Given the description of an element on the screen output the (x, y) to click on. 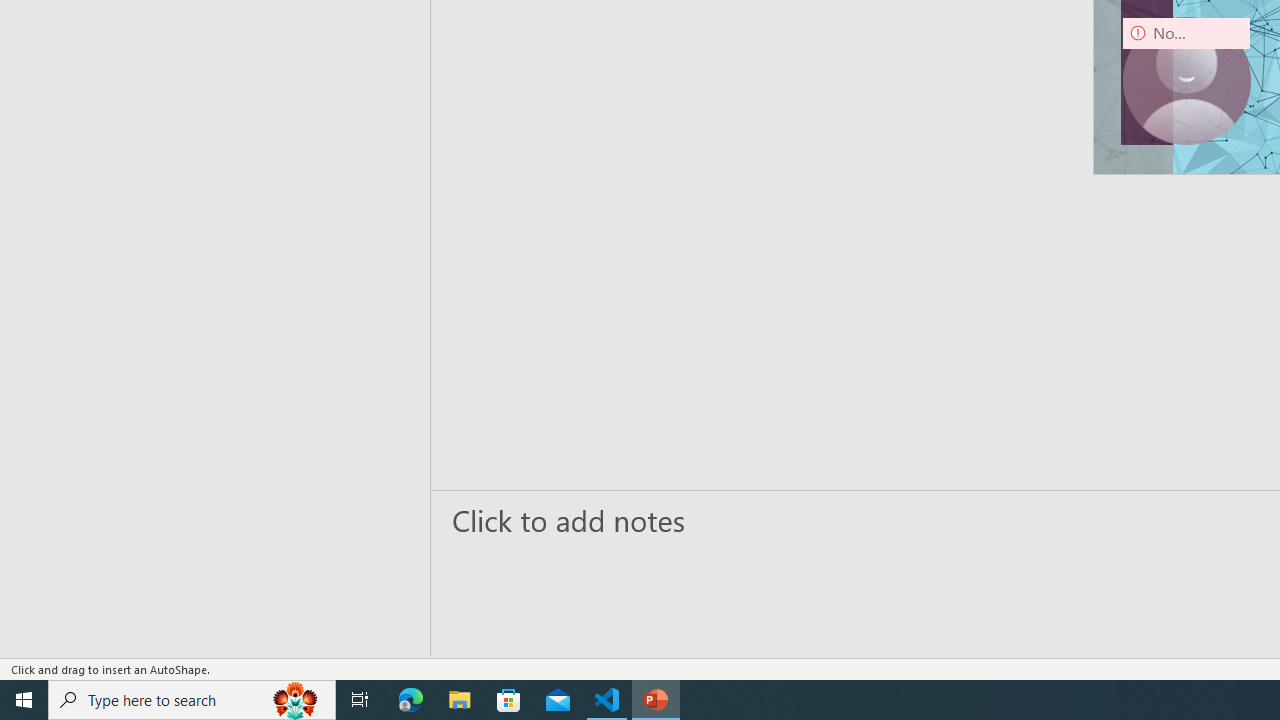
Camera 9, No camera detected. (1186, 80)
